Given the description of an element on the screen output the (x, y) to click on. 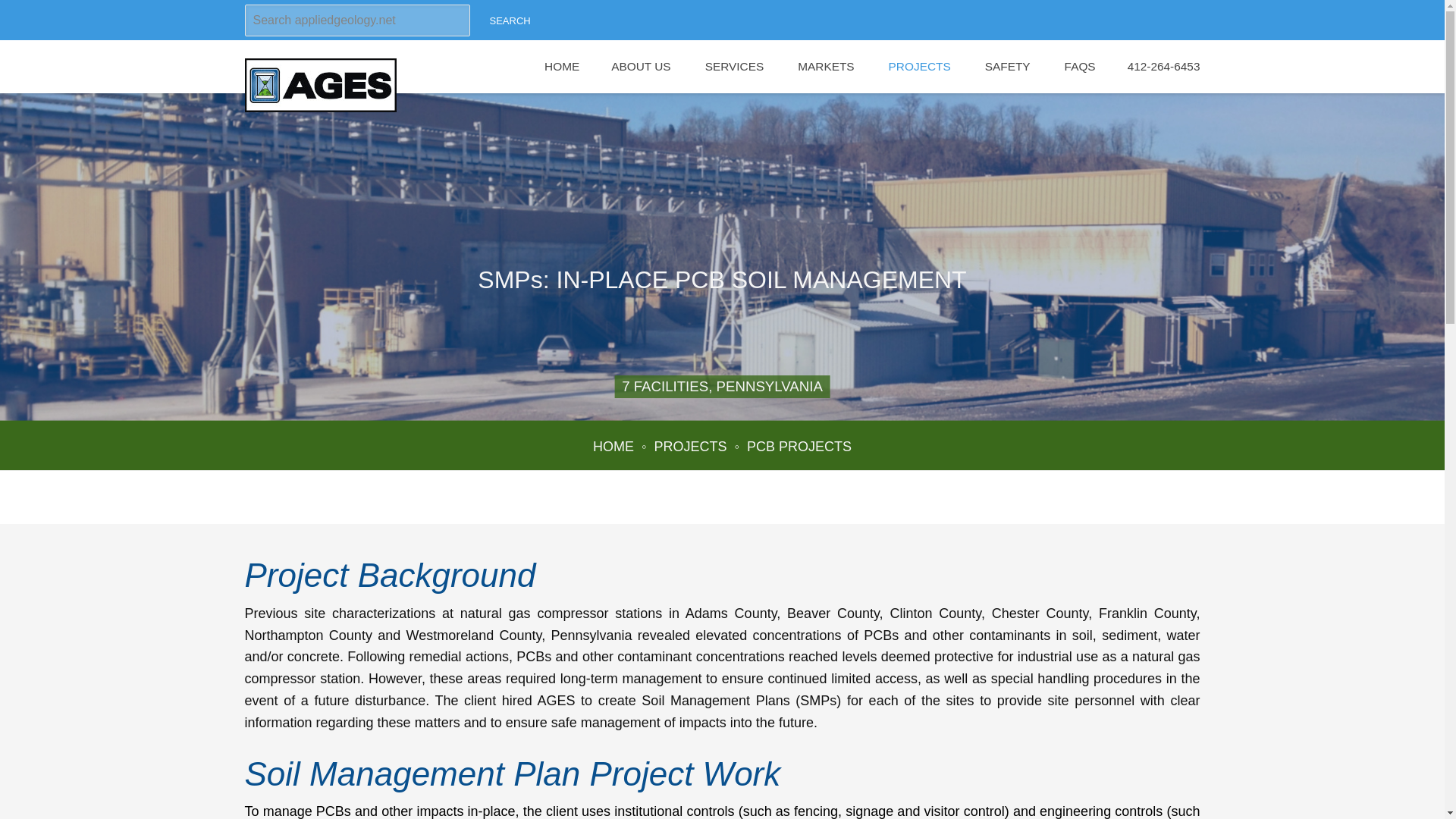
Search appliedgeology.net (356, 20)
Search (509, 20)
HOME (612, 446)
PCB PROJECTS (798, 446)
PROJECTS (689, 446)
